Given the description of an element on the screen output the (x, y) to click on. 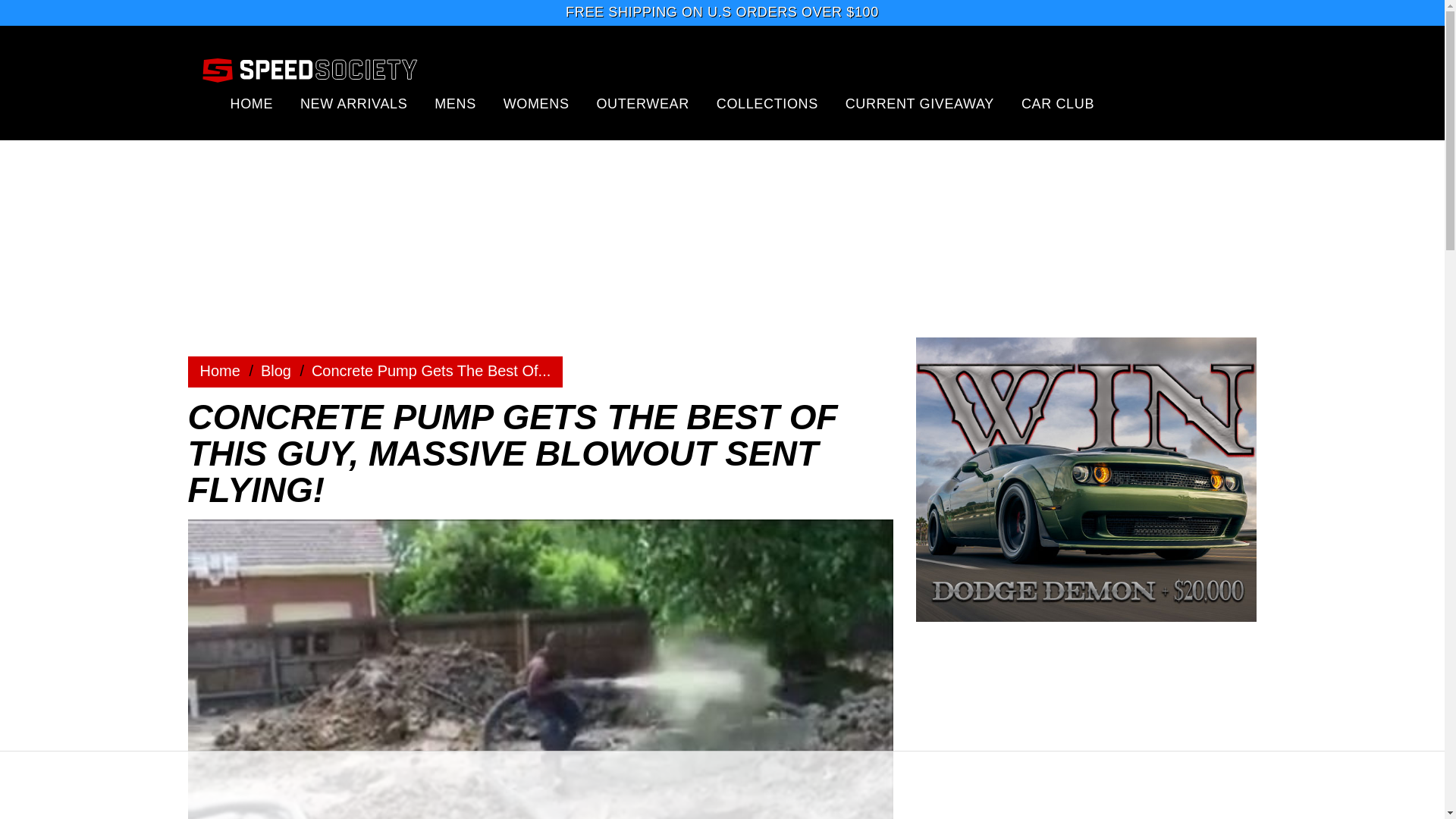
CURRENT GIVEAWAY (919, 103)
Home (220, 370)
CAR CLUB (1058, 103)
Blog (275, 370)
COLLECTIONS (767, 103)
speed society logo (308, 69)
NEW ARRIVALS (353, 103)
HOME (251, 103)
WOMENS (536, 103)
MENS (454, 103)
OUTERWEAR (641, 103)
Home (275, 370)
Concrete Pump Gets The Best Of... (430, 370)
Home (220, 370)
